Given the description of an element on the screen output the (x, y) to click on. 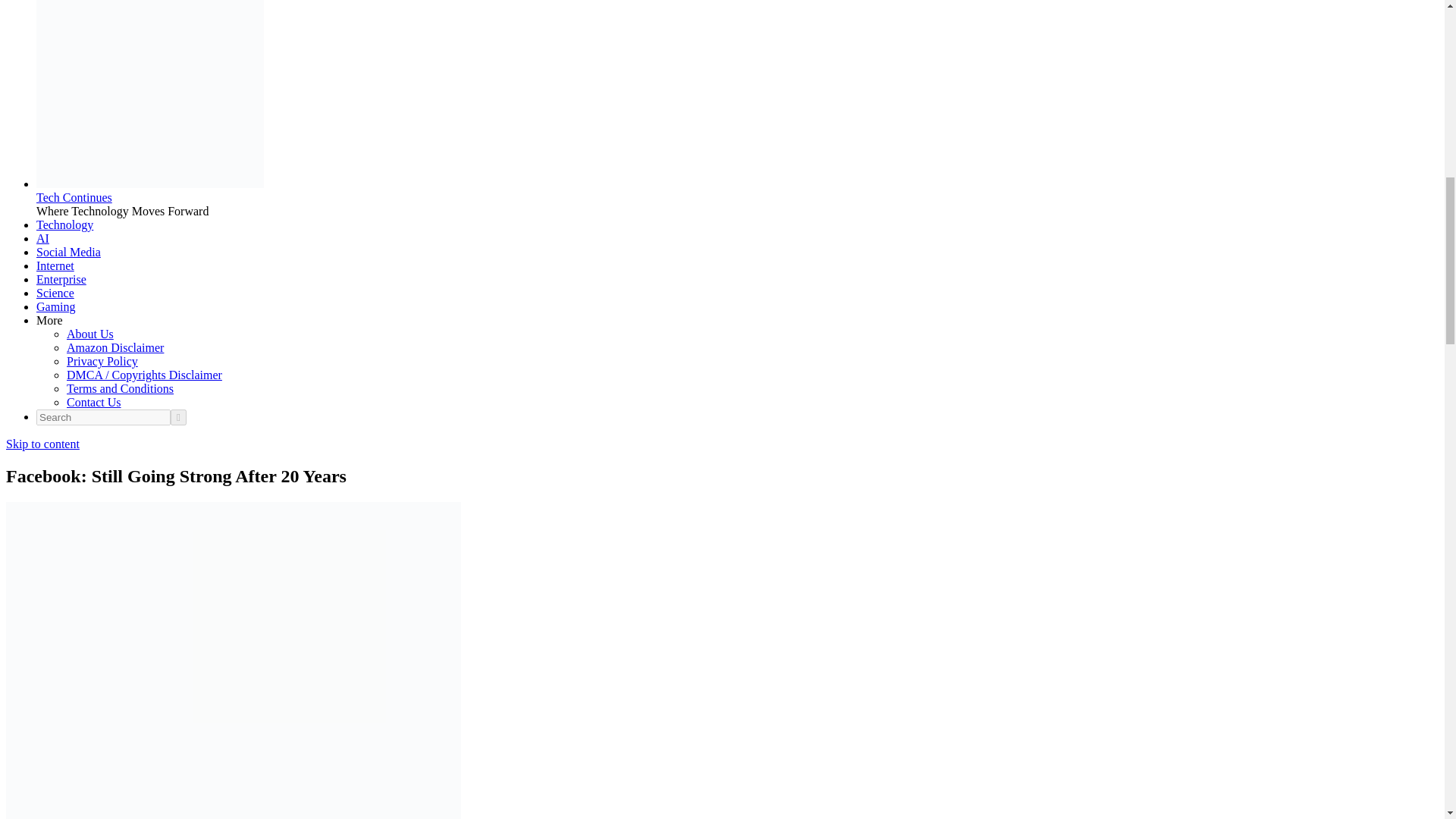
Amazon Disclaimer (114, 347)
Privacy Policy (102, 360)
Technology (64, 224)
About Us (89, 333)
Tech Continues (74, 196)
More (49, 319)
Enterprise (60, 278)
Contact Us (93, 401)
Internet (55, 265)
AI (42, 237)
